Given the description of an element on the screen output the (x, y) to click on. 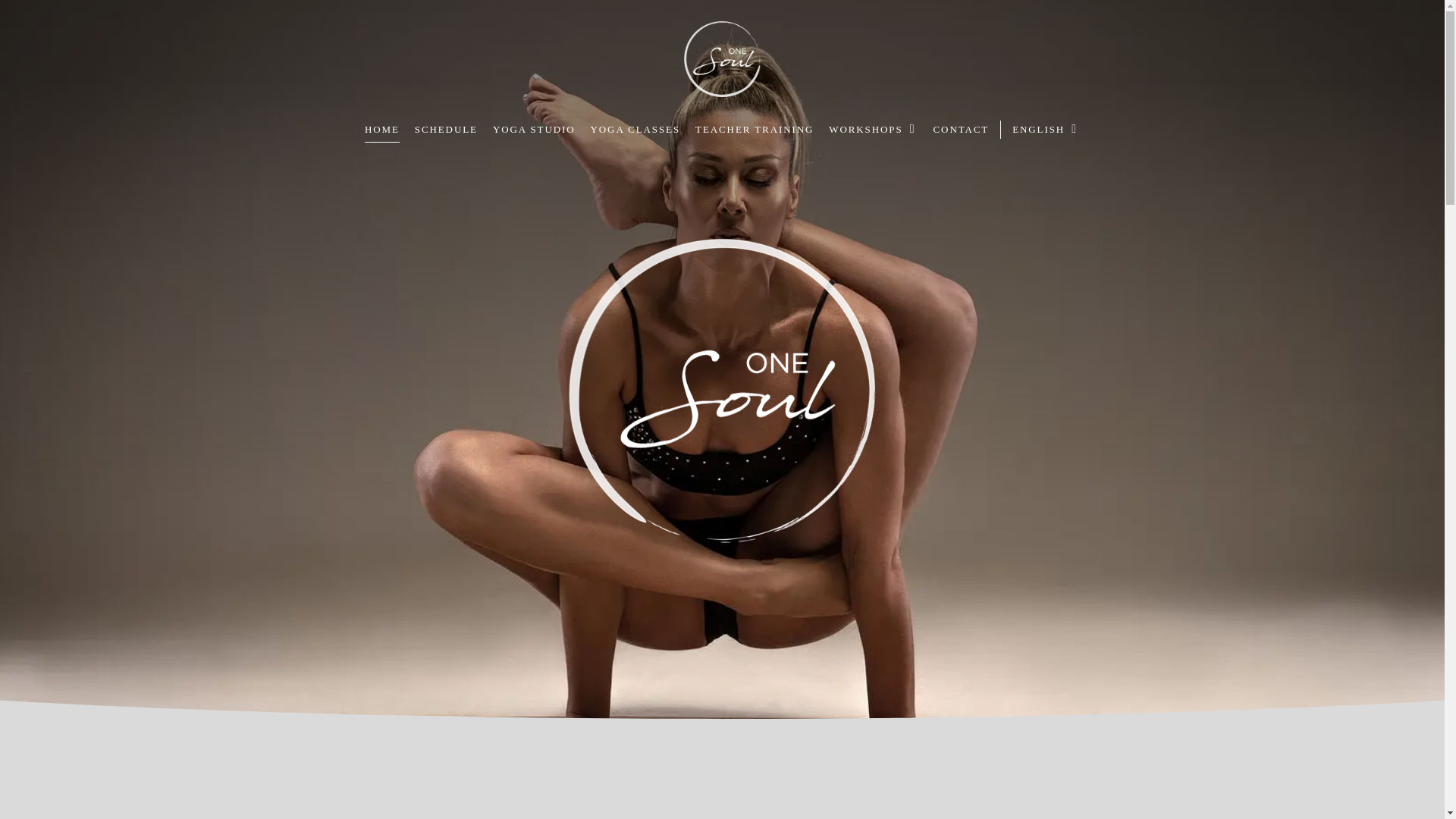
WORKSHOPS (872, 129)
TEACHER TRAINING (754, 129)
YOGA STUDIO (534, 129)
YOGA CLASSES (636, 129)
English (1040, 129)
CONTACT (961, 129)
Menu (1415, 7)
ENGLISH (1040, 129)
HOME (381, 129)
SCHEDULE (445, 129)
